Given the description of an element on the screen output the (x, y) to click on. 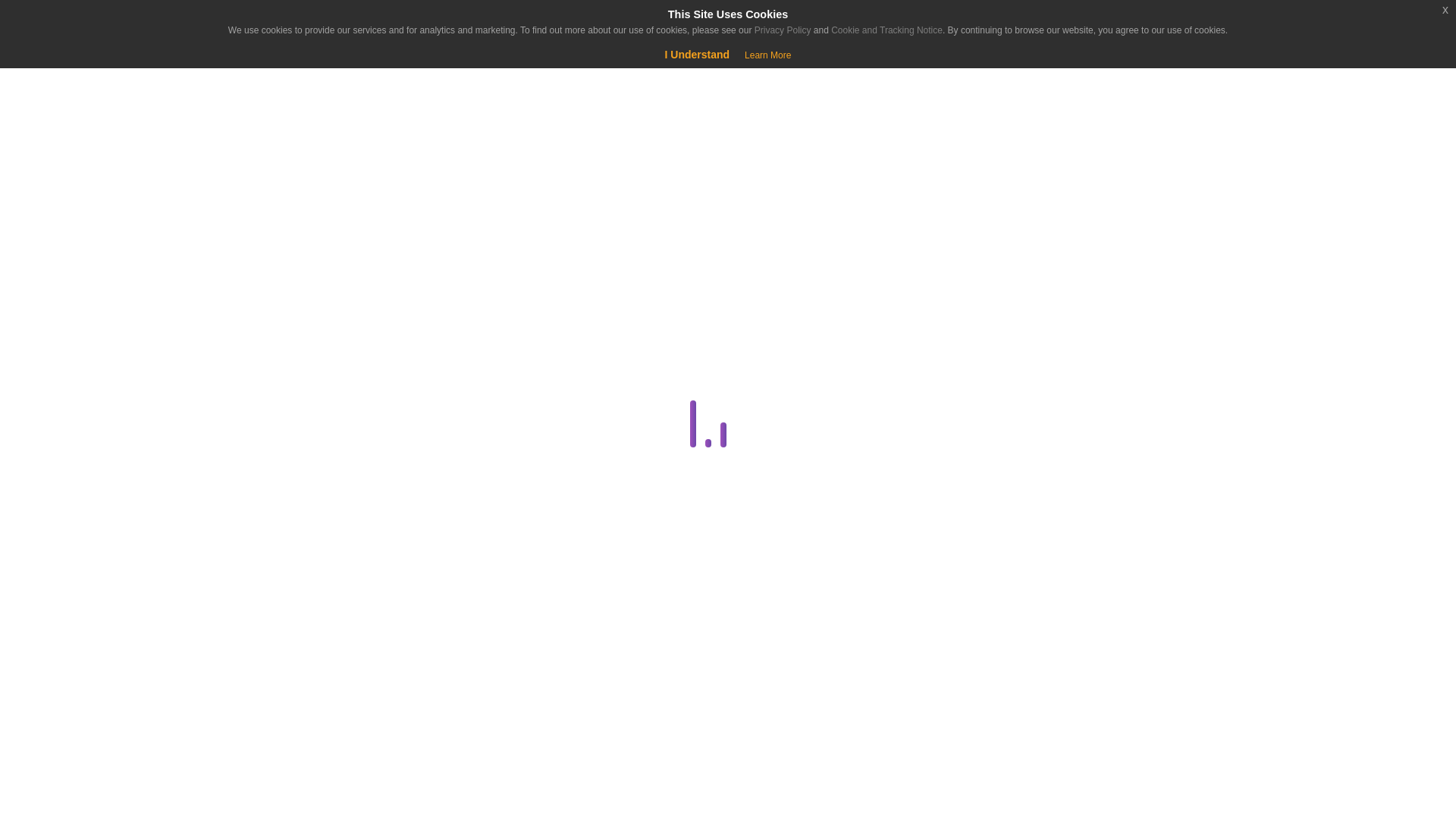
Dedicated Server Guides (281, 495)
Domains and DNS (281, 531)
Databases (281, 458)
General (281, 677)
Linux Administration (281, 750)
Domains API (283, 567)
FTP (283, 640)
Qeydiyyat (129, 76)
Billing (281, 349)
Hesab (93, 23)
Home (94, 138)
Shopping Cart (59, 76)
Colocation Guides (283, 385)
Email (281, 604)
Hosting Dashboard (281, 713)
